Given the description of an element on the screen output the (x, y) to click on. 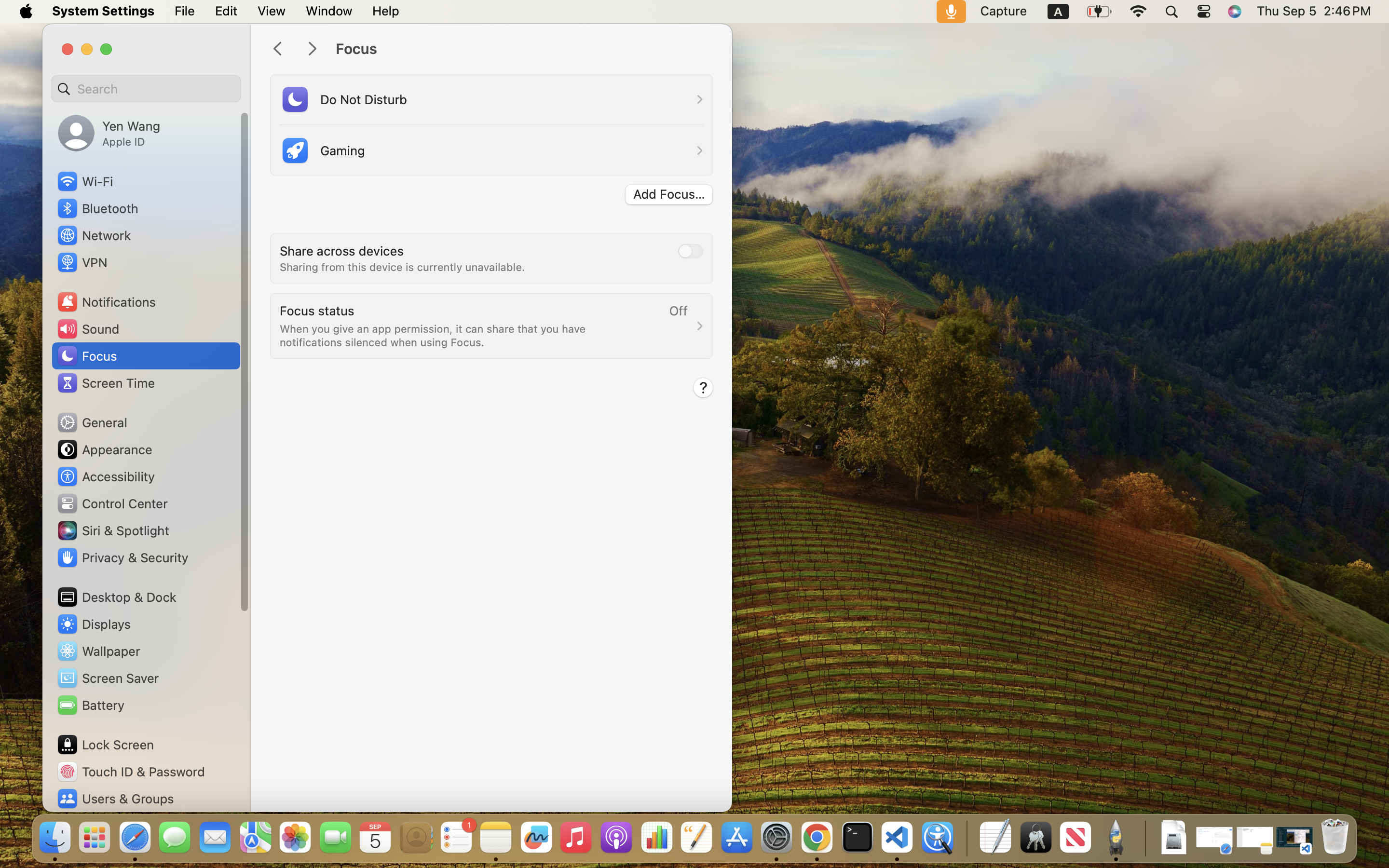
Focus Element type: AXStaticText (523, 49)
Bluetooth Element type: AXStaticText (96, 207)
